Given the description of an element on the screen output the (x, y) to click on. 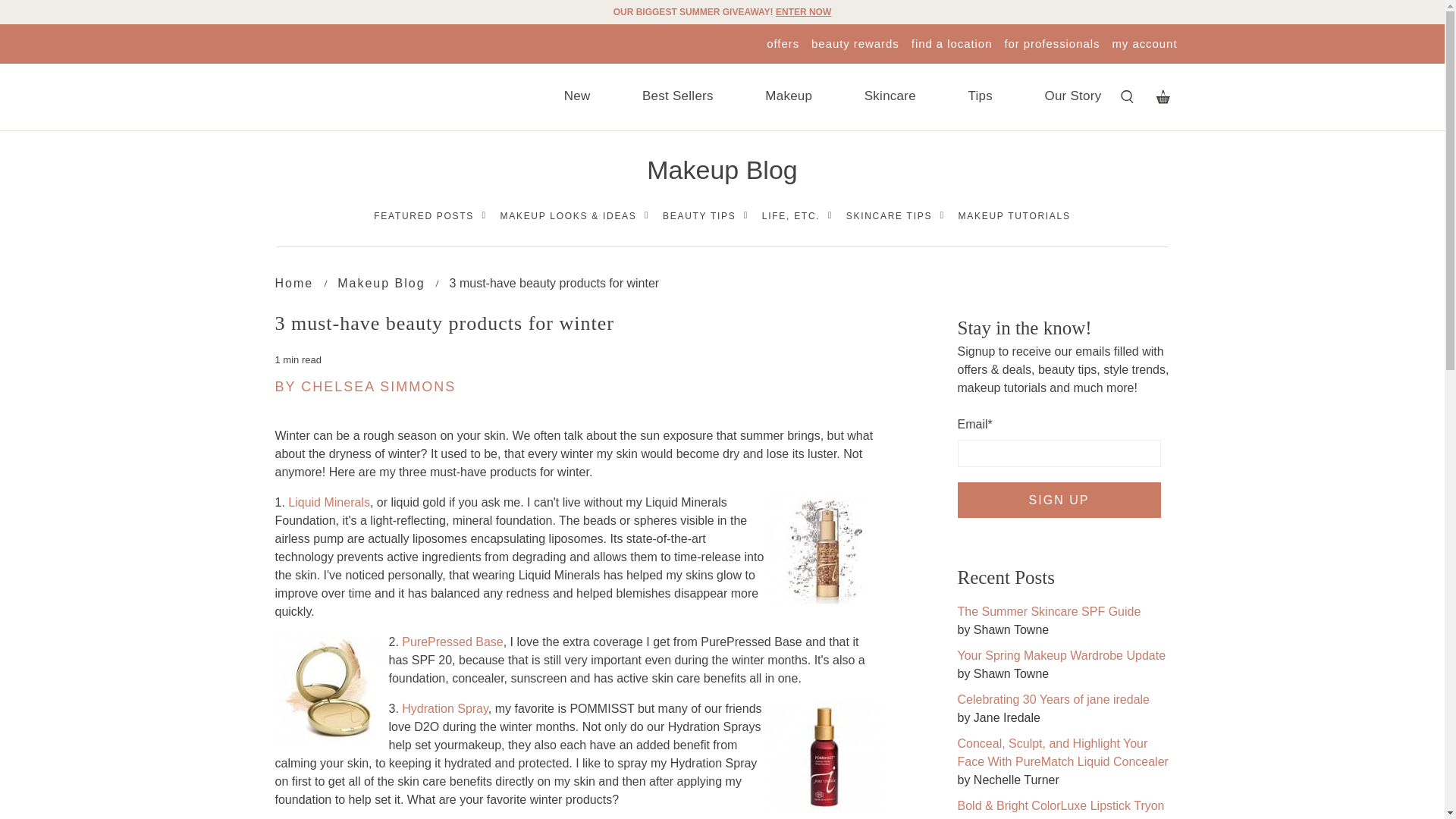
Skincare (890, 97)
Your Spring Makeup Wardrobe Update (1061, 655)
Makeup (788, 97)
offers (783, 42)
The Summer Skincare SPF Guide (1048, 611)
find a location (951, 42)
jane iredale (360, 99)
Our Story (1072, 97)
my account (1144, 42)
beauty rewards (854, 42)
